Given the description of an element on the screen output the (x, y) to click on. 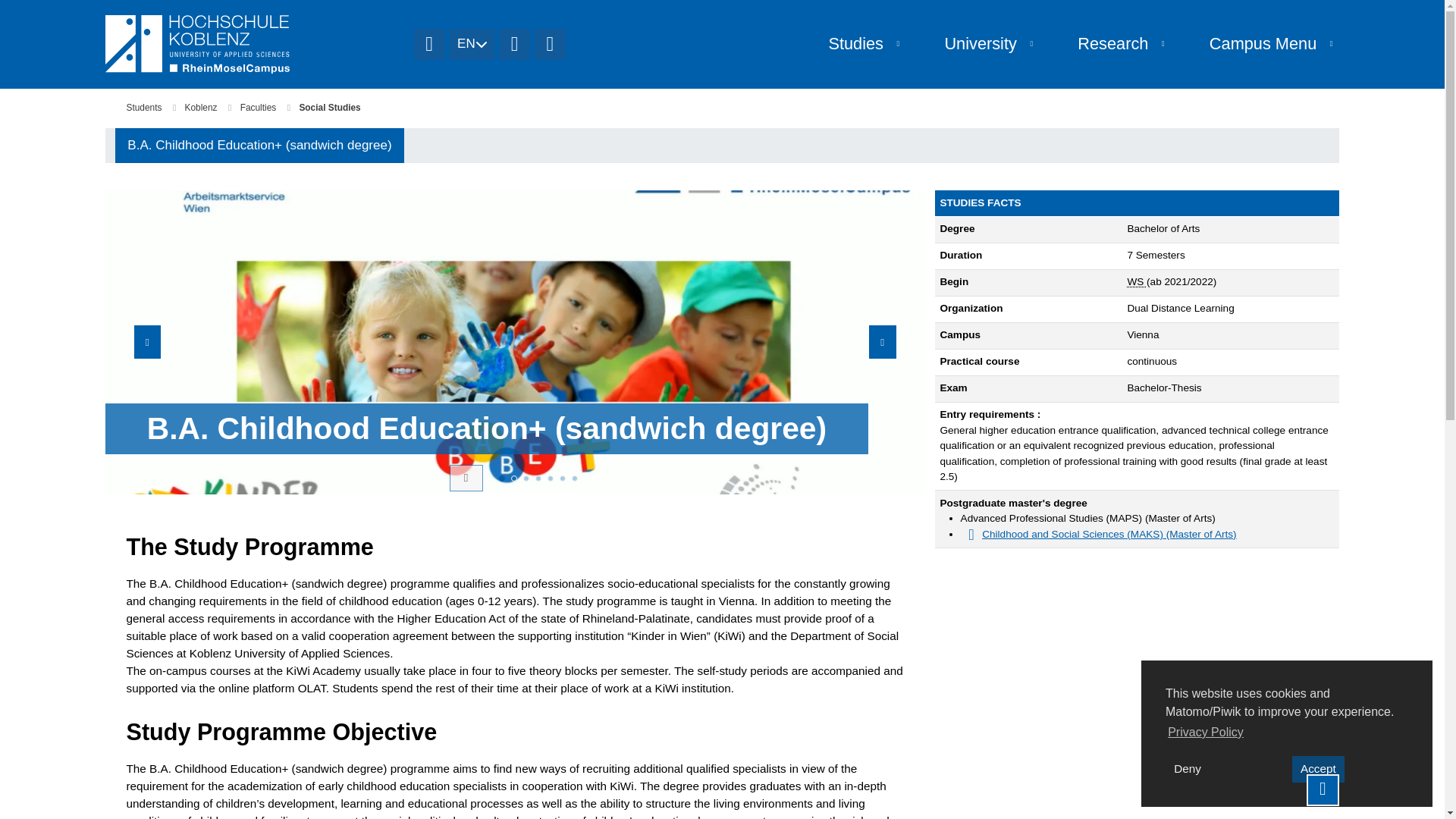
Toggle contrast mode (514, 43)
Deny (1187, 768)
Privacy Policy (1206, 731)
RheinMoselCampus Koblenz (253, 44)
Research (1104, 44)
To homepage (429, 43)
Studies (847, 44)
Accept (1317, 768)
Open searchbox (550, 43)
